Given the description of an element on the screen output the (x, y) to click on. 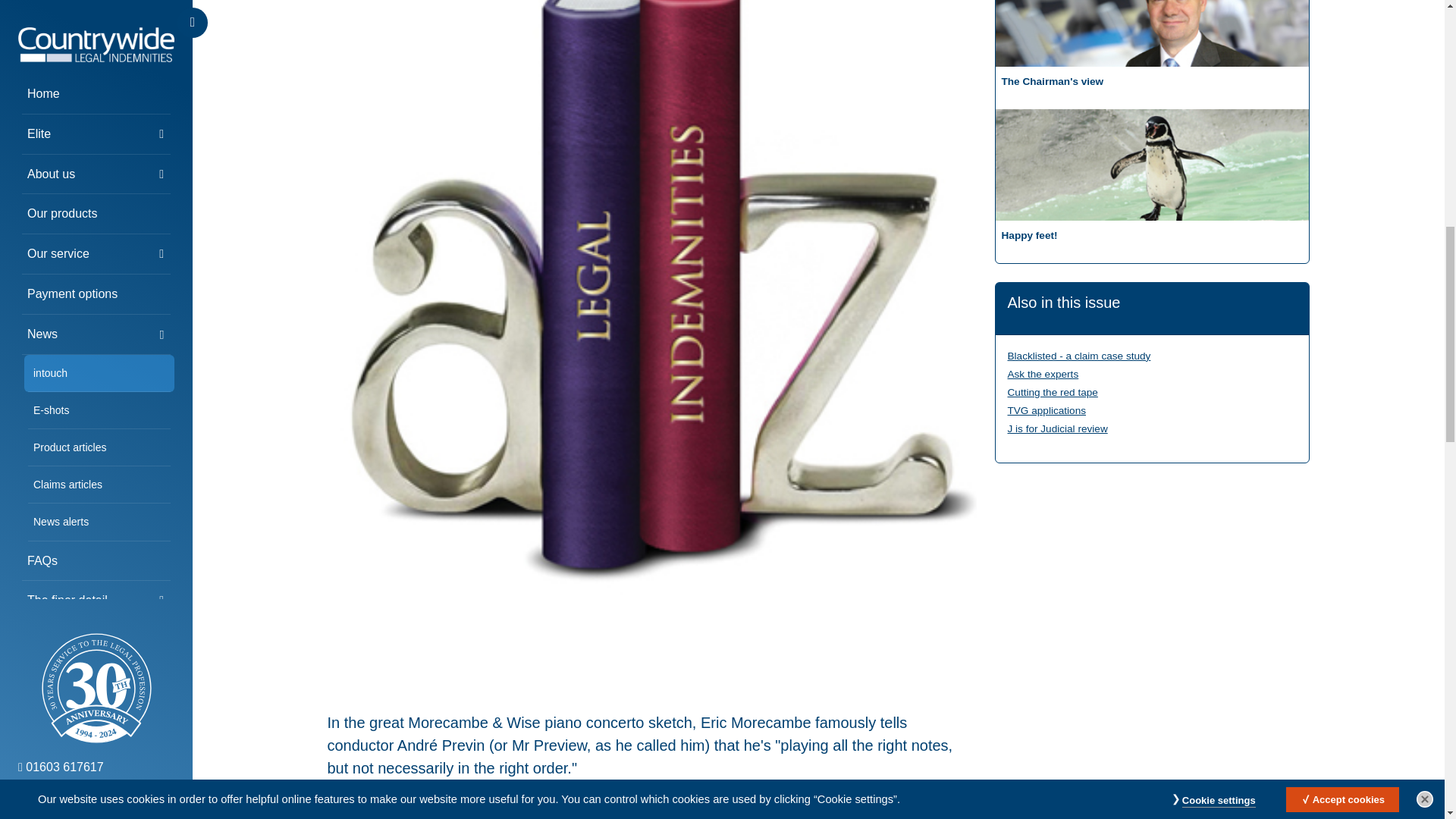
Intouch Winter 2014: View article Cutting the red tape (1052, 392)
Intouch Winter 2014: View article Ask the experts (1042, 374)
Intouch Winter 2014: View article J is for Judicial review (1056, 428)
Intouch Winter 2014: View article TVG applications (1046, 410)
